Given the description of an element on the screen output the (x, y) to click on. 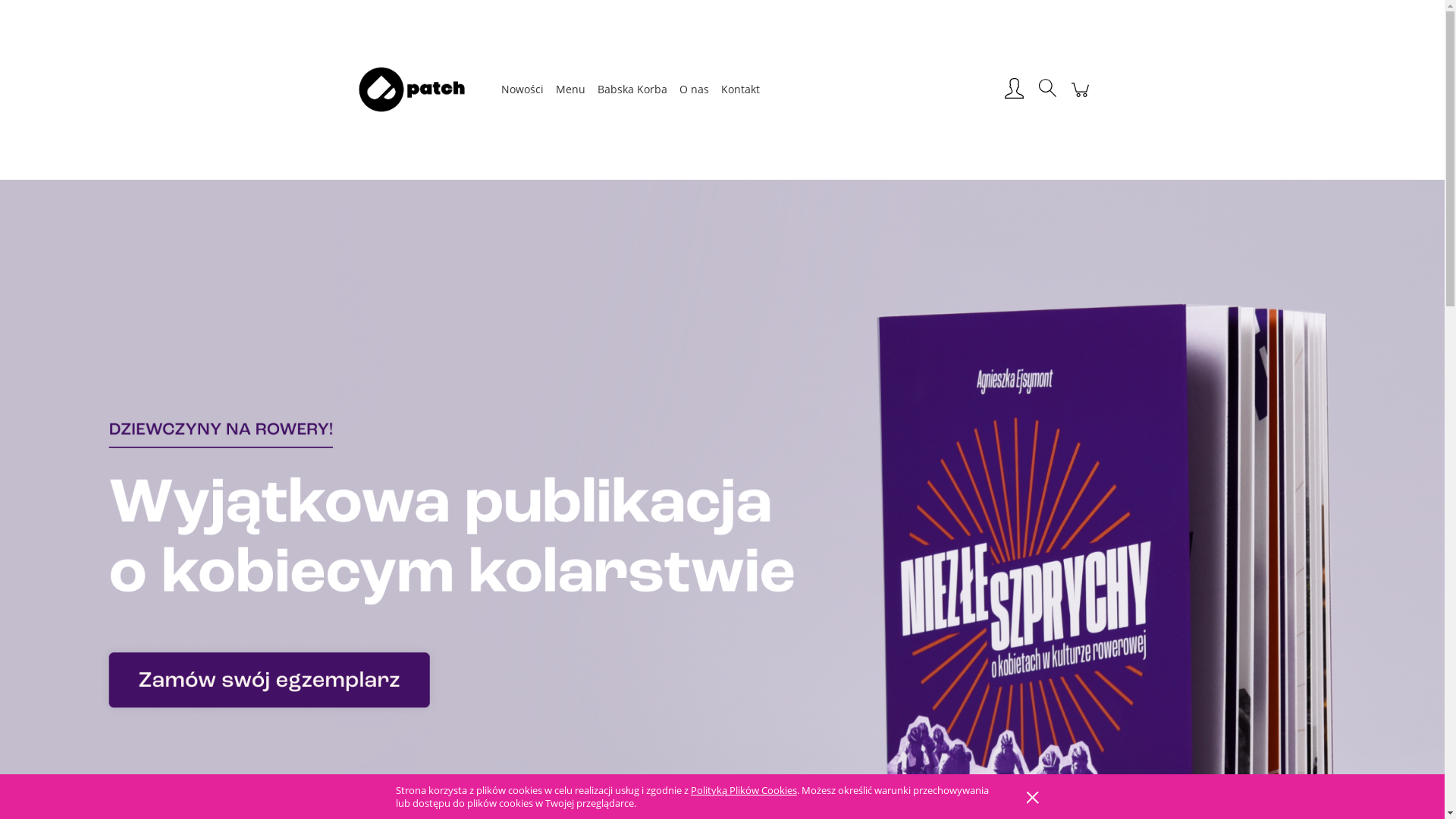
Kontakt Element type: text (739, 88)
Koszyk Element type: hover (1079, 97)
Menu Element type: text (569, 88)
Babska Korba Element type: text (632, 88)
O nas Element type: text (694, 88)
